Given the description of an element on the screen output the (x, y) to click on. 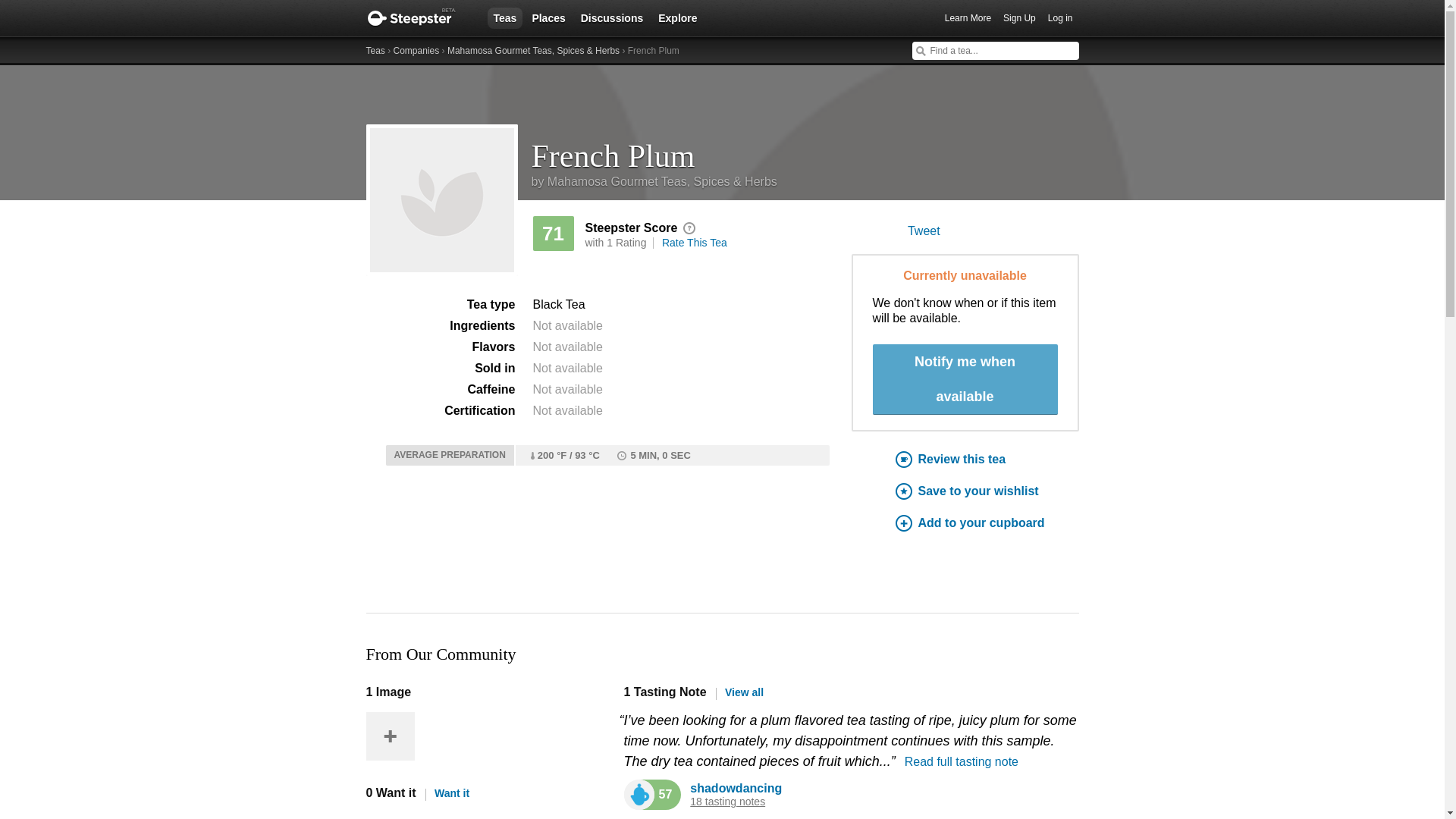
Log in (1060, 18)
Explore (677, 17)
Rate This Tea (694, 242)
View all (739, 692)
18 tasting notes (727, 801)
Teas (374, 50)
shadowdancing (735, 787)
Save to your wishlist (986, 490)
Companies (416, 50)
Learn More (968, 18)
